Given the description of an element on the screen output the (x, y) to click on. 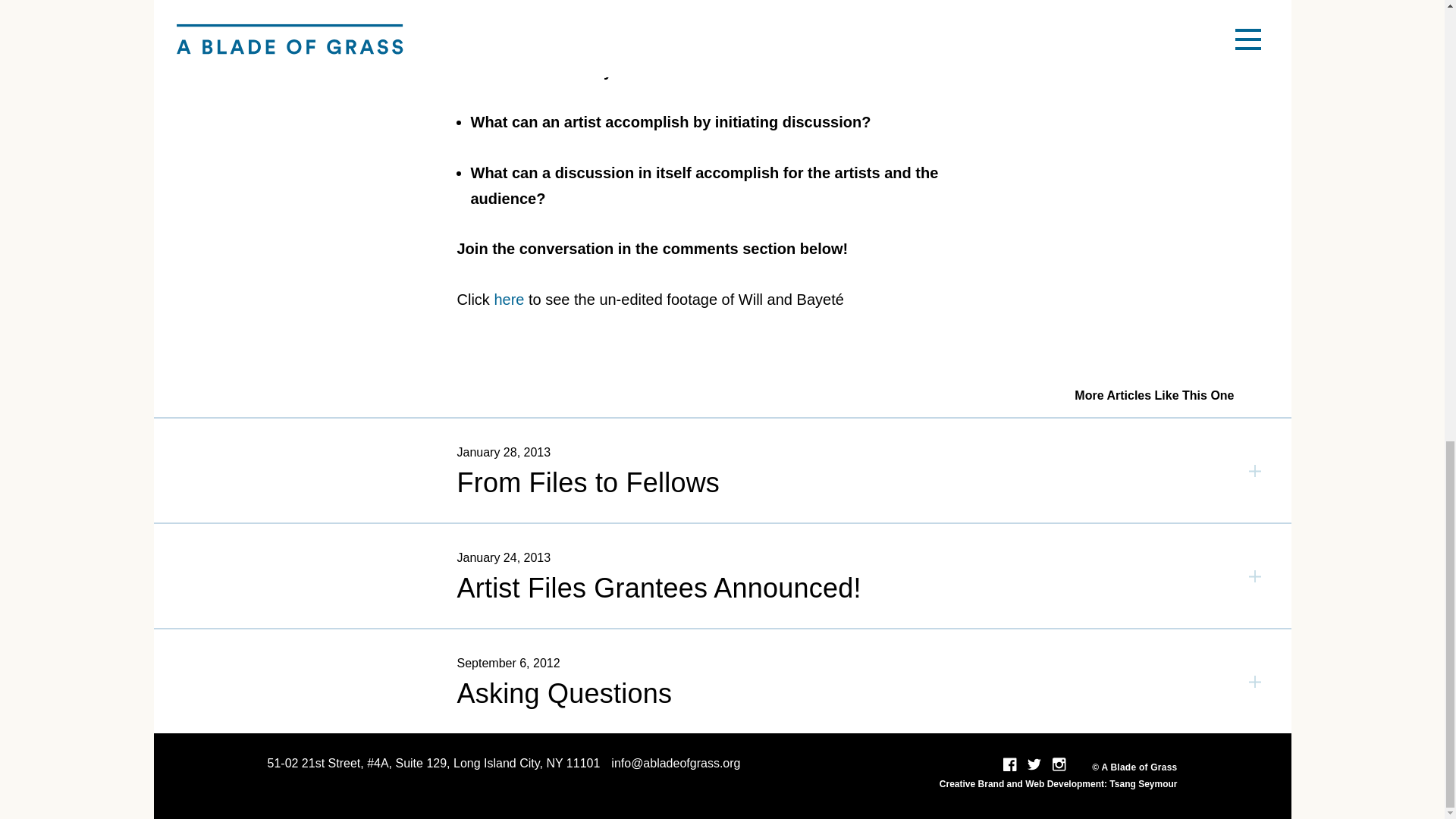
here (508, 299)
